Given the description of an element on the screen output the (x, y) to click on. 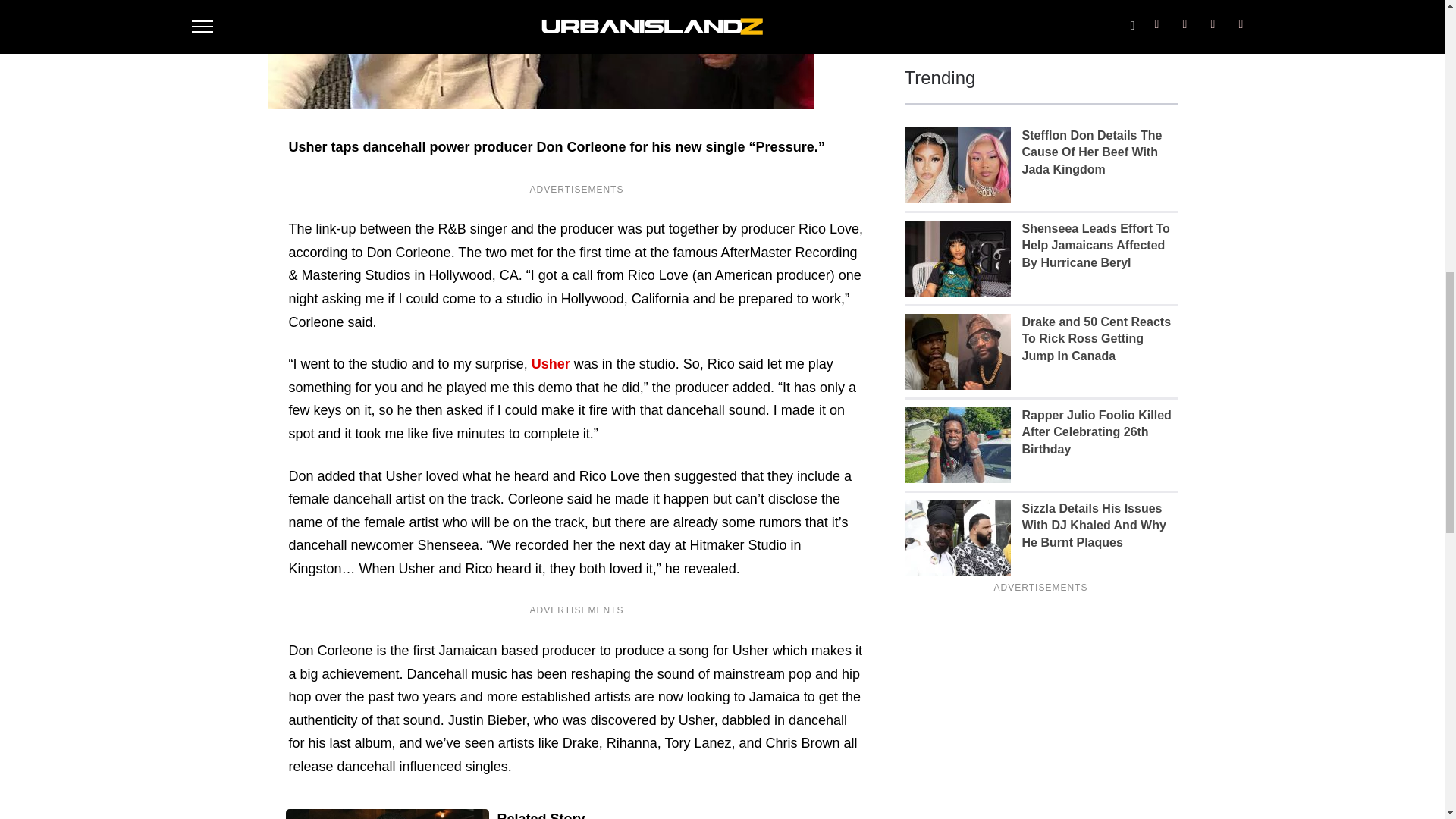
Advertisement (1039, 13)
